Given the description of an element on the screen output the (x, y) to click on. 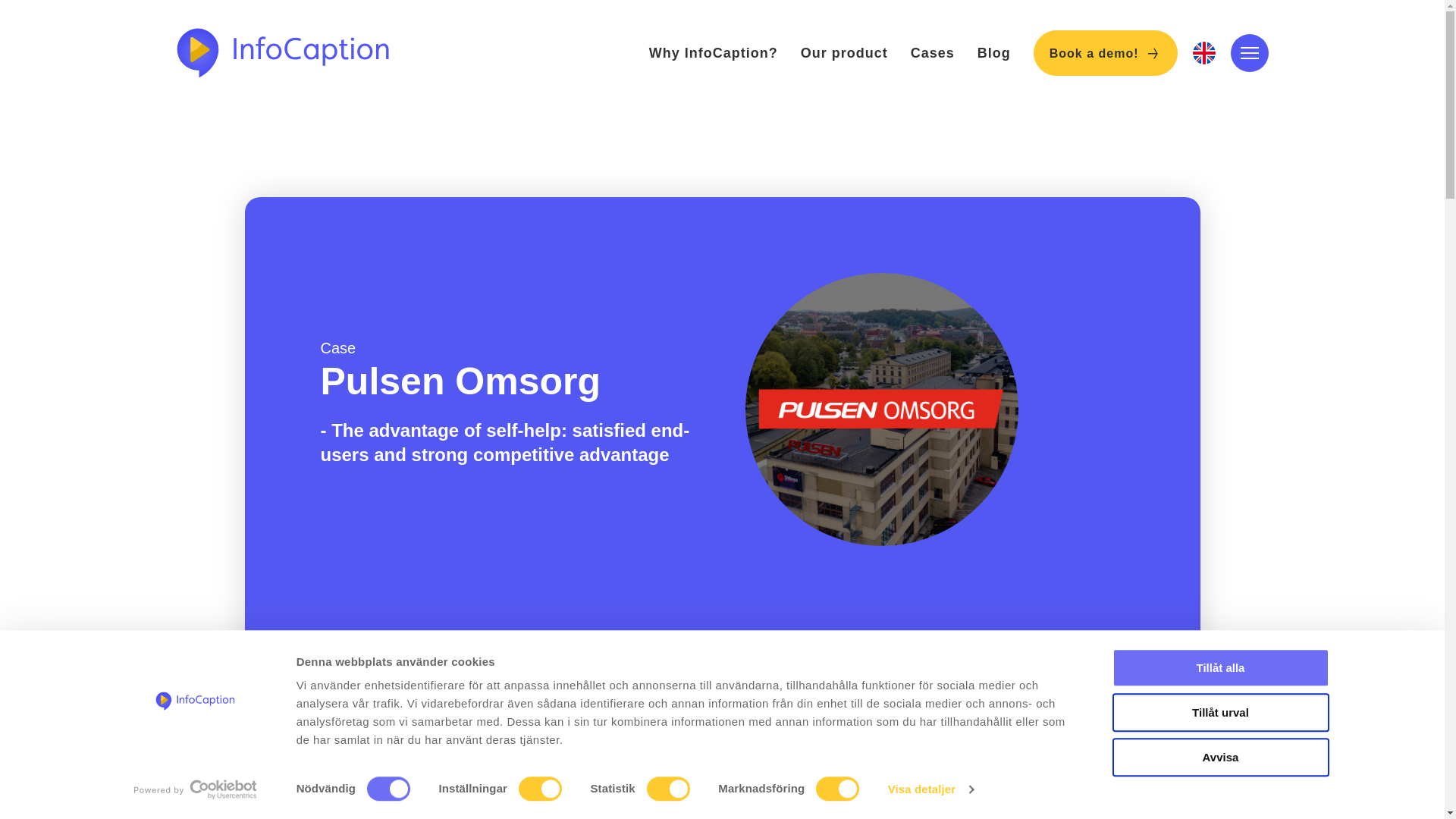
Visa detaljer (931, 789)
Book a demo! (1105, 53)
